Given the description of an element on the screen output the (x, y) to click on. 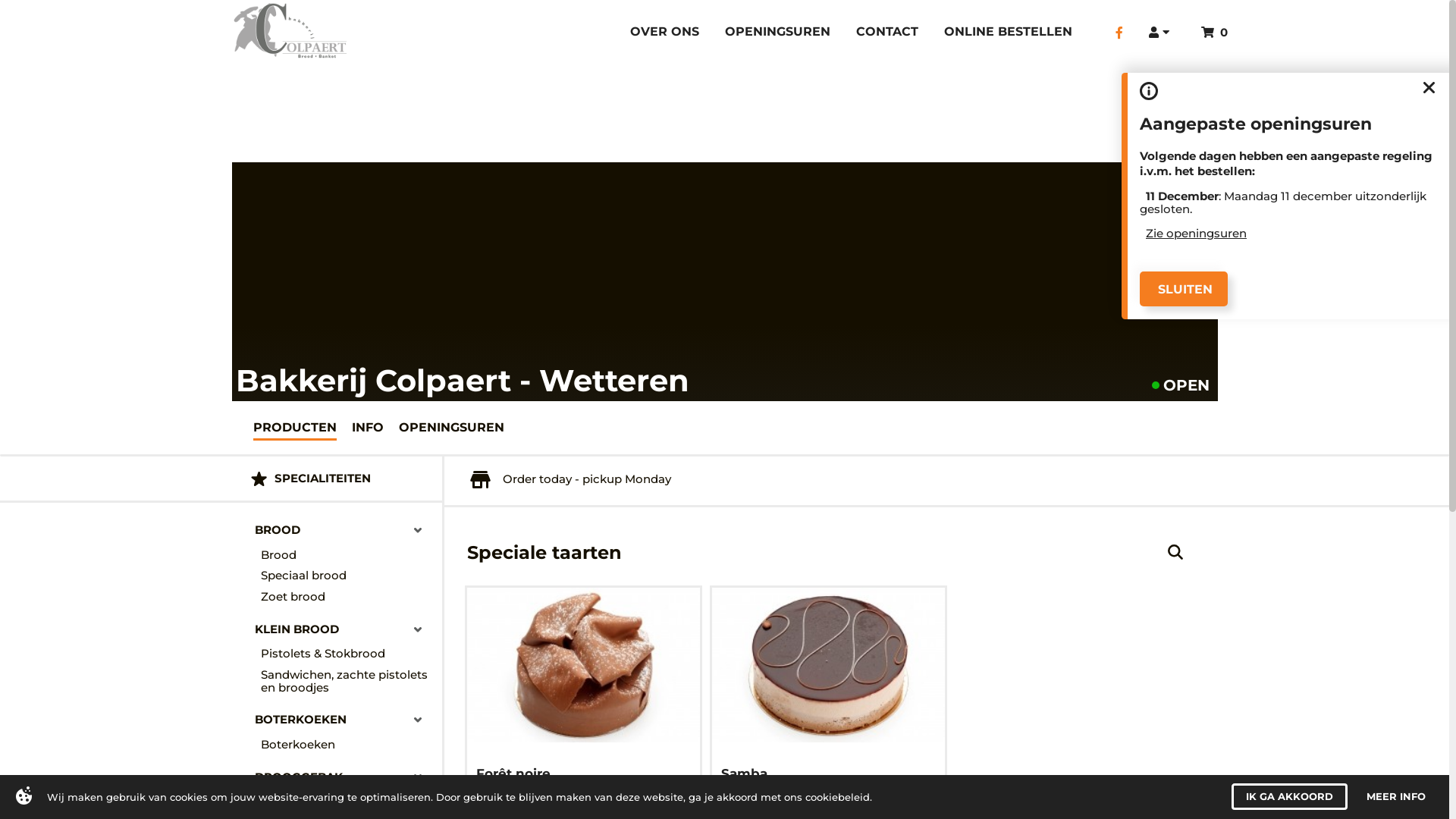
OPENINGSUREN Element type: text (451, 427)
0 Element type: text (1214, 32)
Sandwichen, zachte pistolets en broodjes Element type: text (346, 681)
OVER ONS Element type: text (664, 32)
Drooggebak 1 persoon Element type: text (346, 801)
ONLINE BESTELLEN Element type: text (1008, 32)
Brood Element type: text (346, 554)
INFO Element type: text (367, 427)
SPECIALITEITEN Element type: text (337, 479)
Samba Element type: text (747, 773)
Pistolets & Stokbrood Element type: text (346, 654)
IK GA AKKOORD Element type: text (1289, 796)
Zoet brood Element type: text (346, 596)
SLUITEN Element type: text (1183, 288)
CONTACT Element type: text (887, 32)
MEER INFO Element type: text (1395, 796)
PRODUCTEN Element type: text (294, 427)
Boterkoeken Element type: text (346, 744)
Order today - pickup Monday Element type: text (570, 479)
Speciaal brood Element type: text (346, 575)
Zie openingsuren Element type: text (1195, 232)
OPENINGSUREN Element type: text (777, 32)
